Given the description of an element on the screen output the (x, y) to click on. 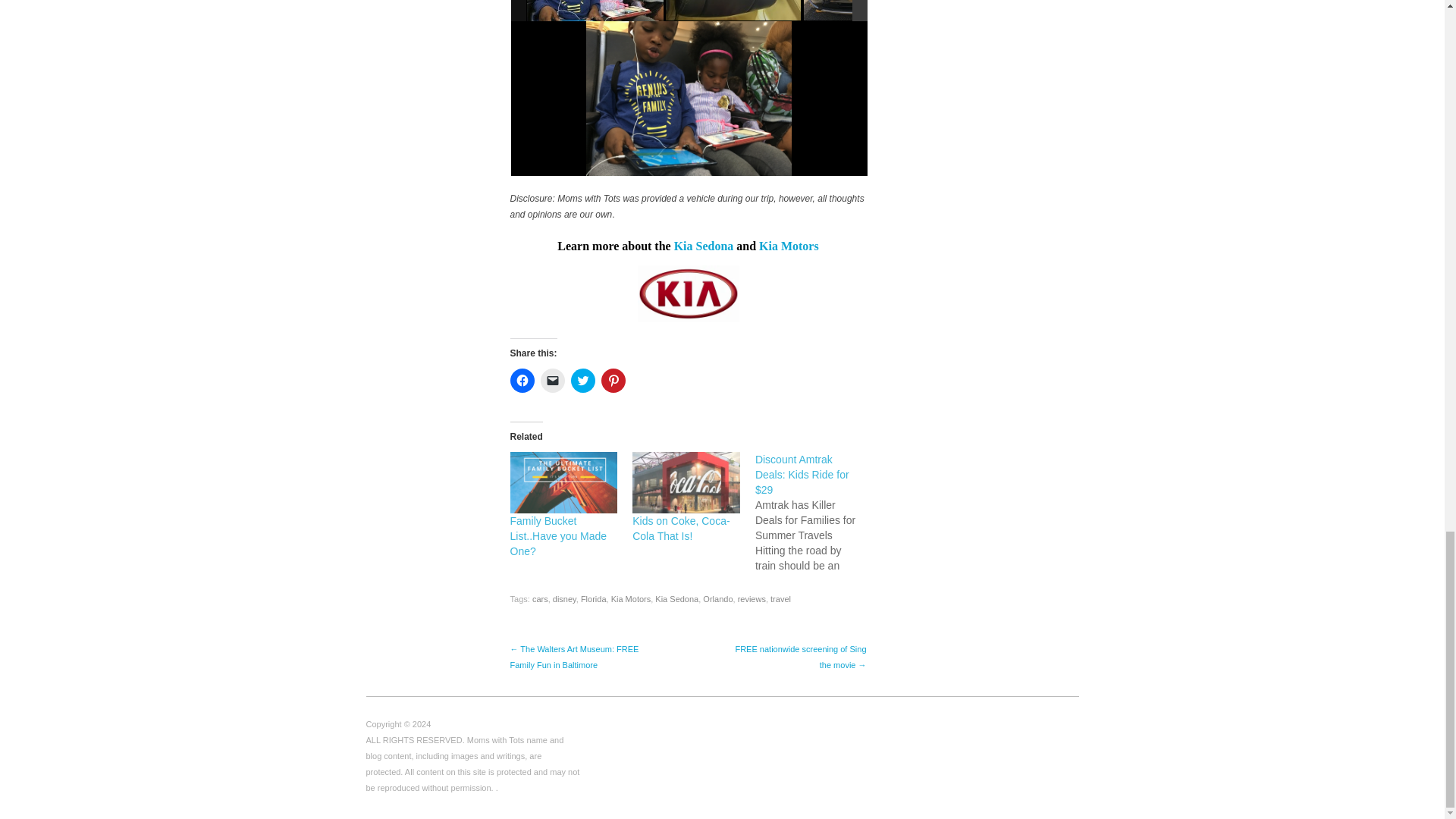
Kia Motors (788, 245)
Kia Sedona (703, 245)
Family Bucket List..Have you Made One? (559, 536)
